Given the description of an element on the screen output the (x, y) to click on. 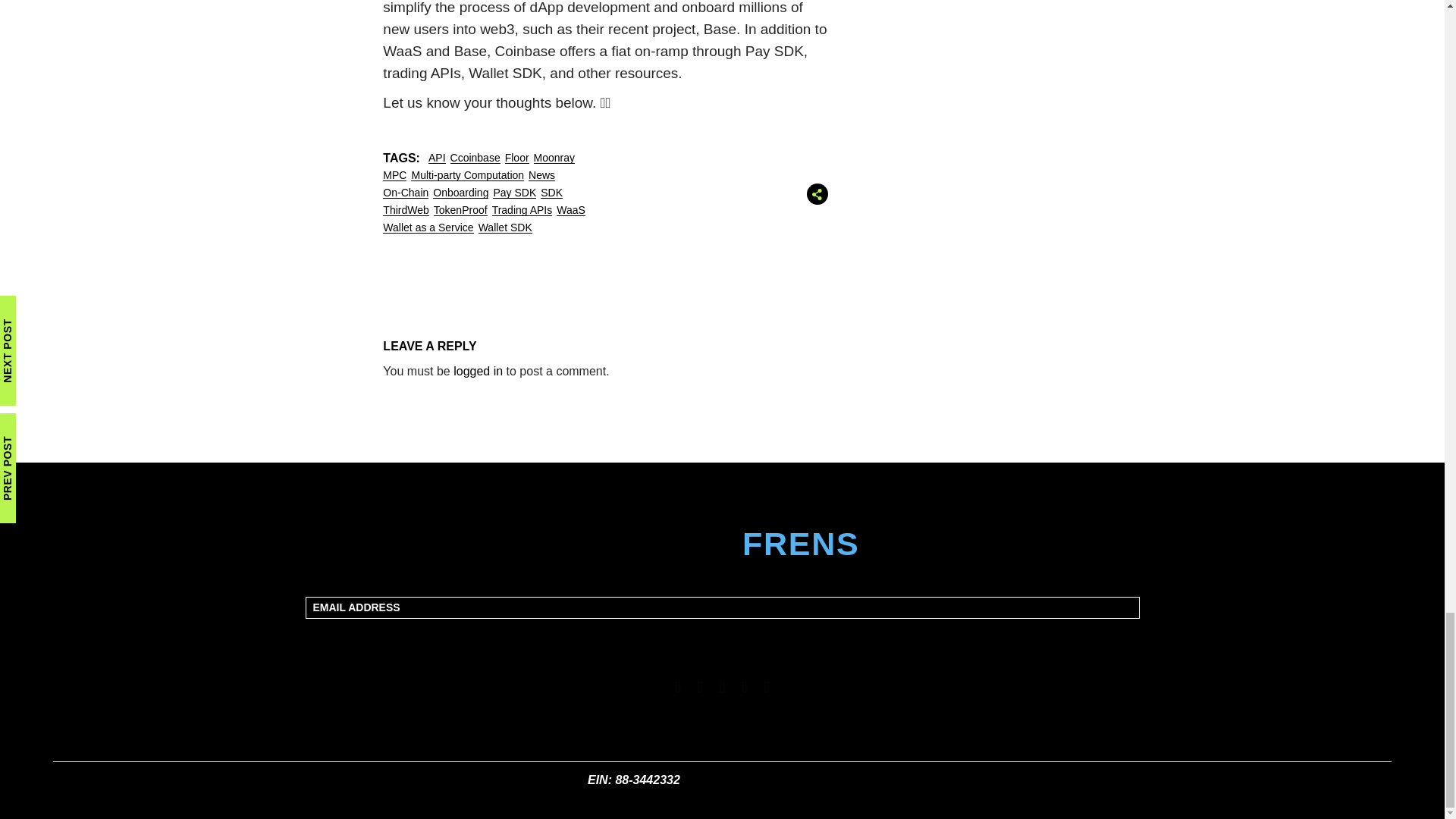
On-Chain (405, 192)
Multi-party Computation (467, 175)
Floor (517, 157)
News (541, 175)
API (436, 157)
Ccoinbase (474, 157)
MPC (394, 175)
Onboarding (459, 192)
SUBSCRIBE (722, 636)
Moonray (554, 157)
